Given the description of an element on the screen output the (x, y) to click on. 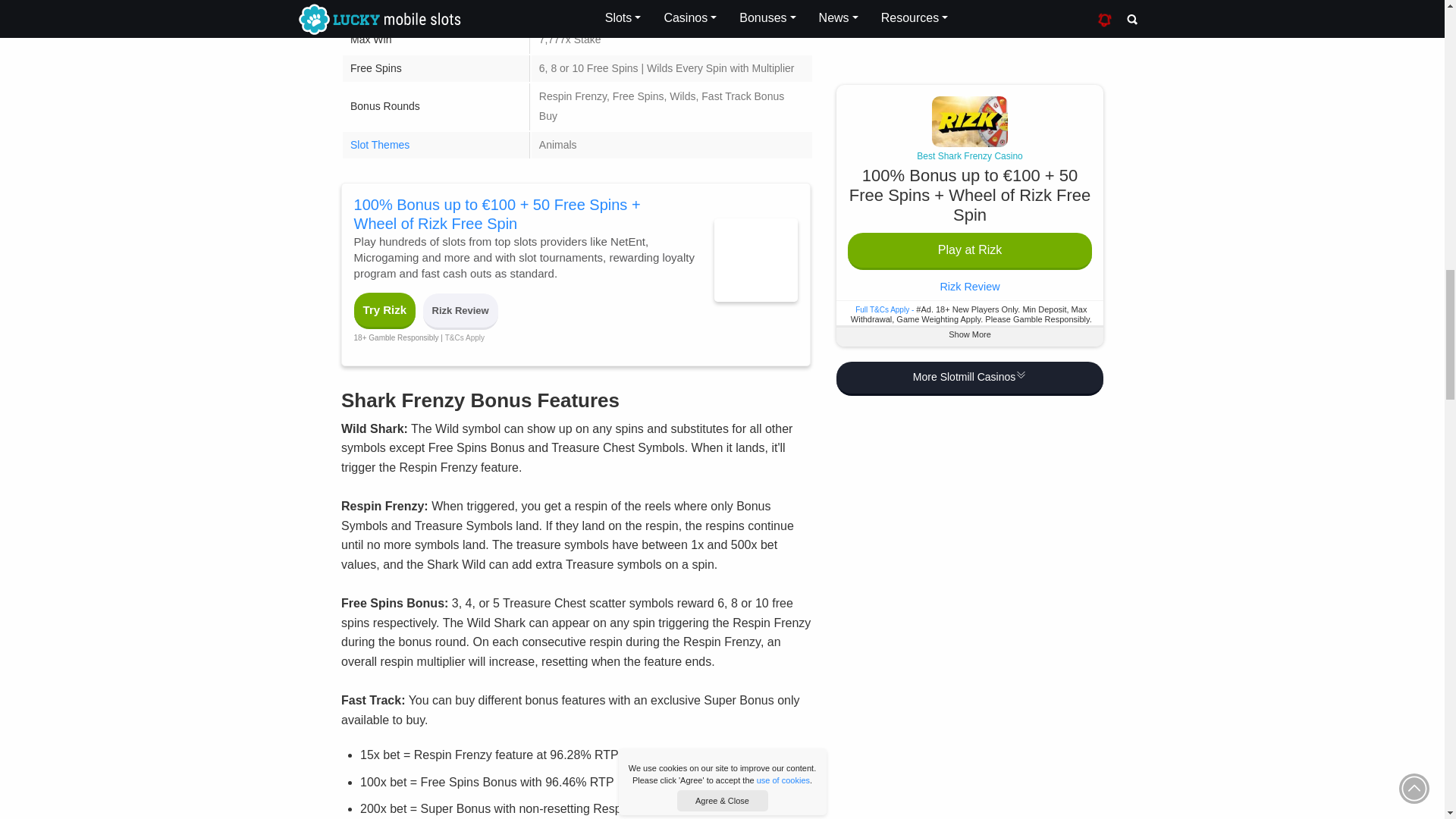
Casino Slots by Theme (379, 144)
